Given the description of an element on the screen output the (x, y) to click on. 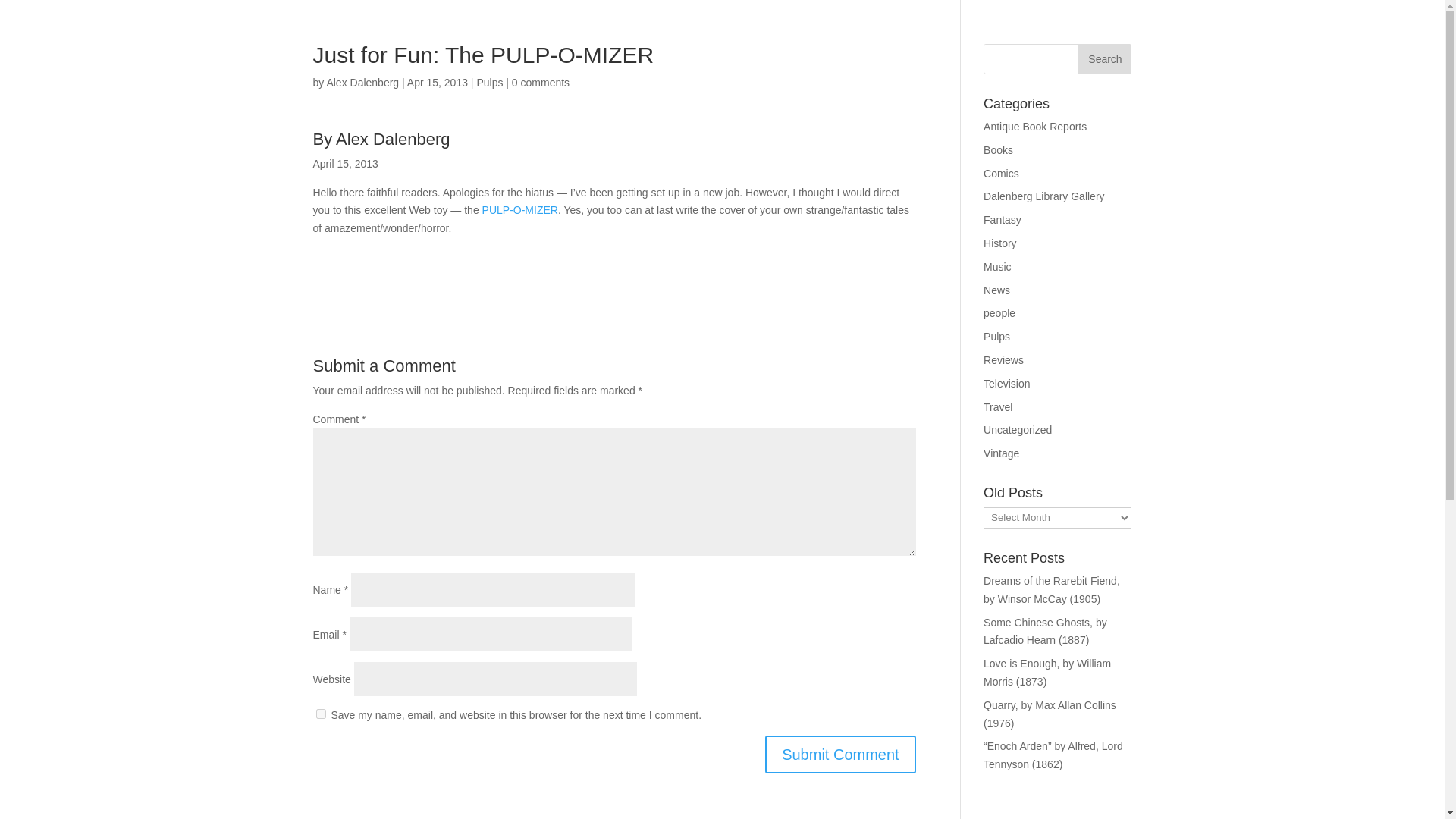
News (997, 290)
Antique Book Reports (1035, 126)
Uncategorized (1017, 429)
Submit Comment (840, 754)
Posts by Alex Dalenberg (362, 82)
Comics (1001, 173)
Reviews (1003, 359)
yes (319, 714)
Pulps (489, 82)
Submit Comment (840, 754)
0 comments (540, 82)
Search (1104, 59)
people (999, 313)
Travel (997, 407)
PULP-O-MIZER (519, 209)
